Given the description of an element on the screen output the (x, y) to click on. 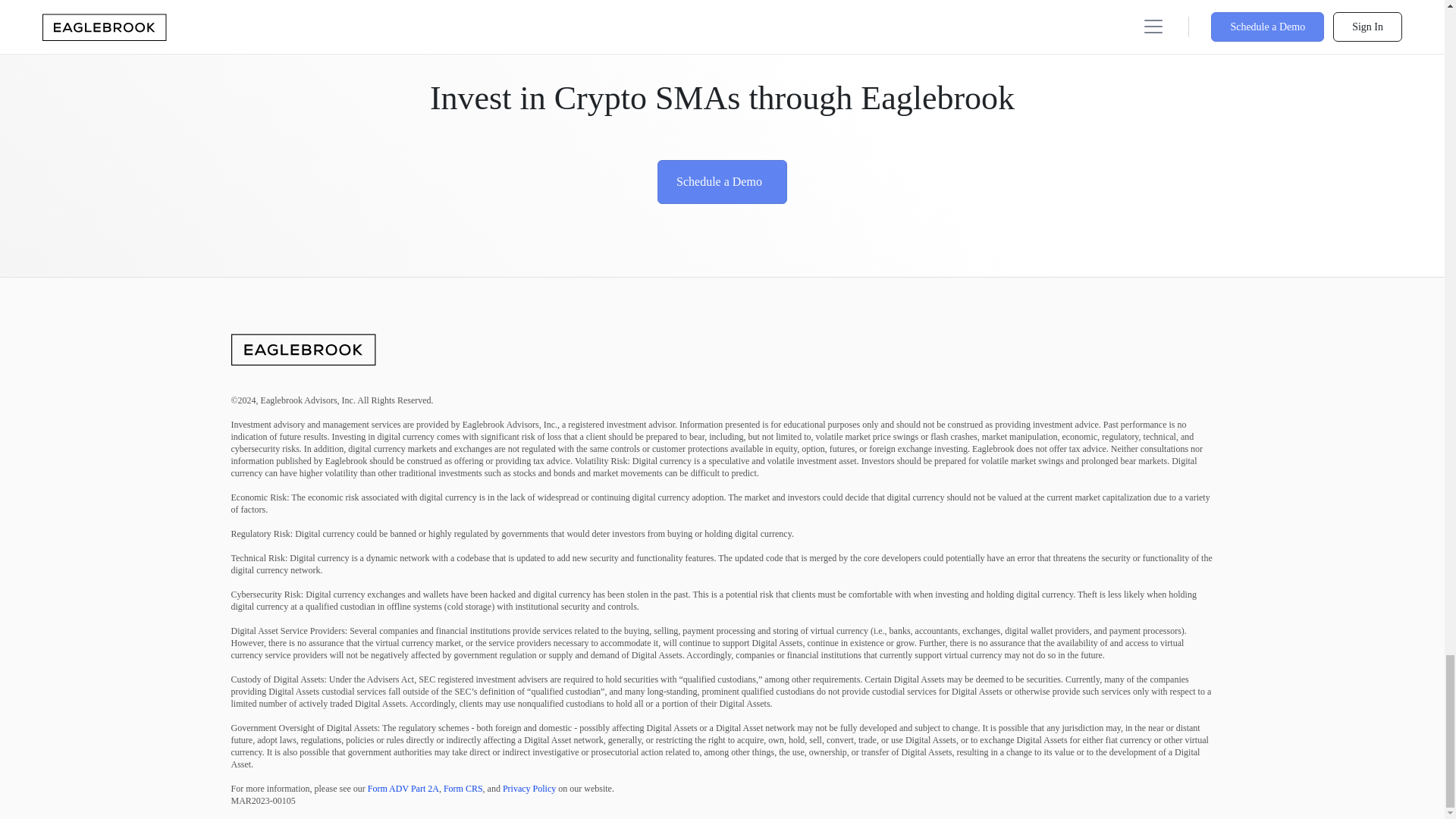
Schedule a Demo (722, 181)
Form ADV Part 2A (403, 787)
Privacy Policy (529, 787)
Form CRS (463, 787)
